Given the description of an element on the screen output the (x, y) to click on. 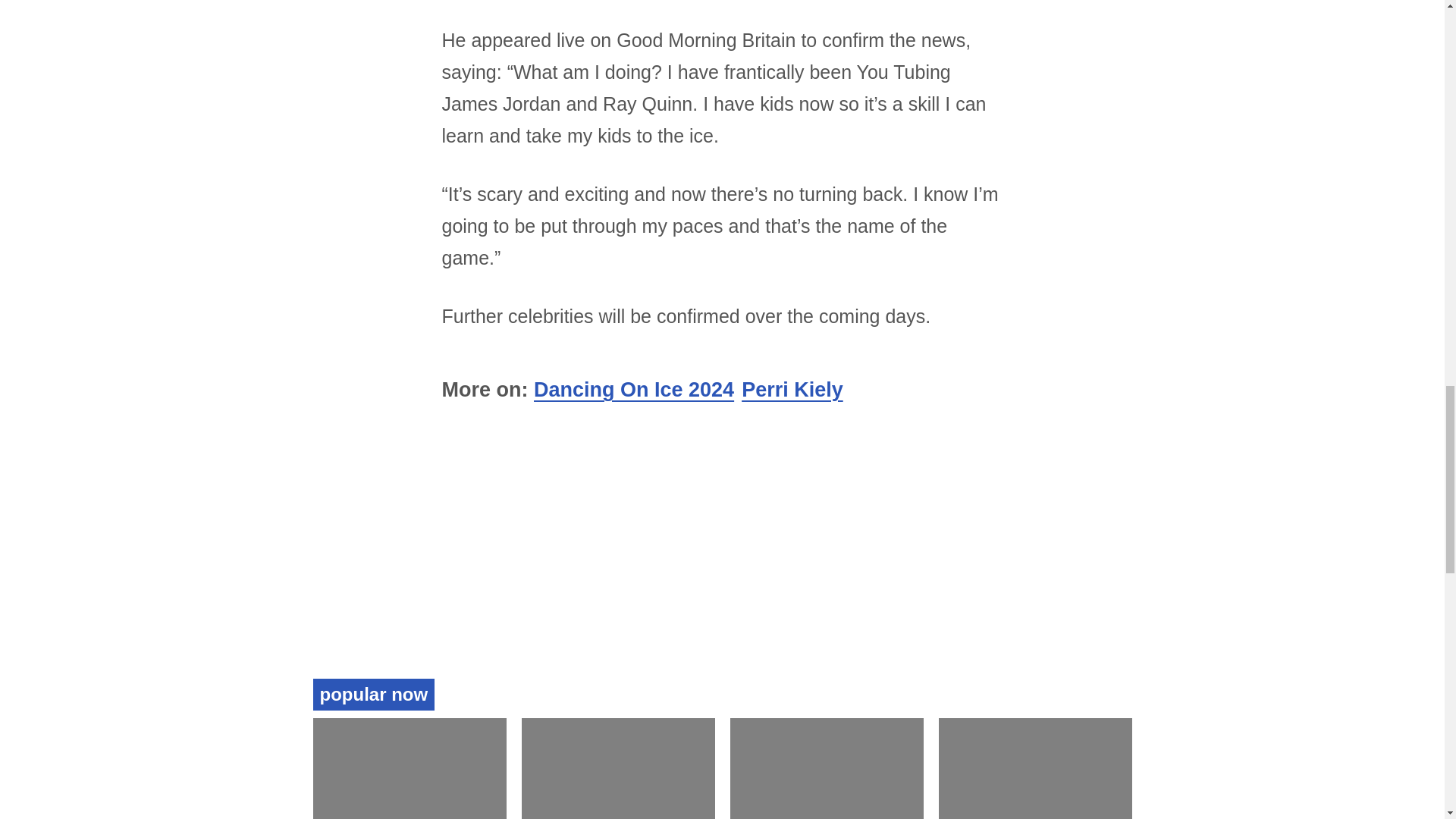
Perri Kiely (792, 389)
Dancing On Ice 2024 (633, 389)
